Given the description of an element on the screen output the (x, y) to click on. 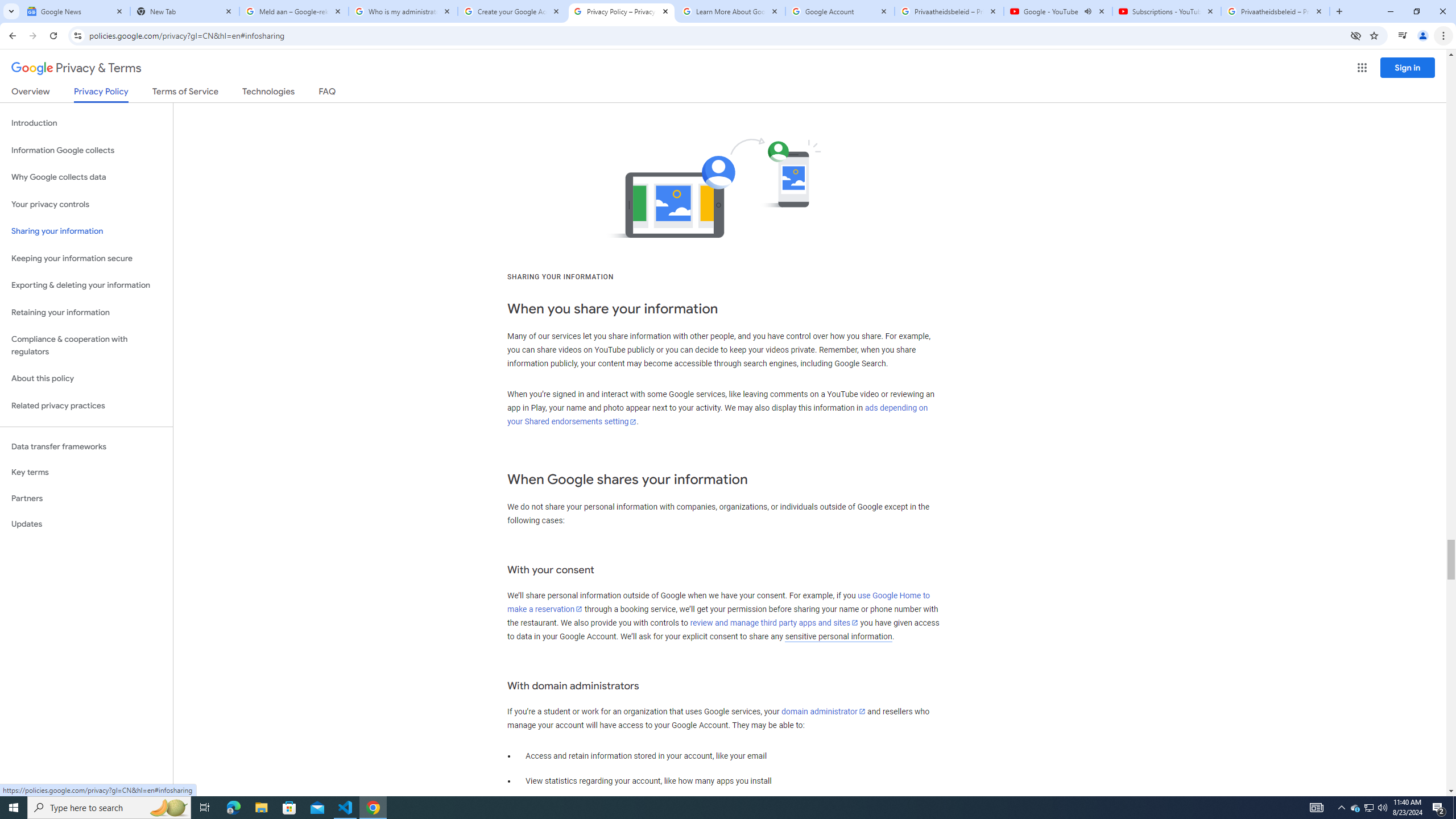
Information Google collects (86, 150)
Create your Google Account (512, 11)
Related privacy practices (86, 405)
Google - YouTube - Audio playing (1058, 11)
Who is my administrator? - Google Account Help (403, 11)
Sharing your information (86, 230)
About this policy (86, 379)
